Given the description of an element on the screen output the (x, y) to click on. 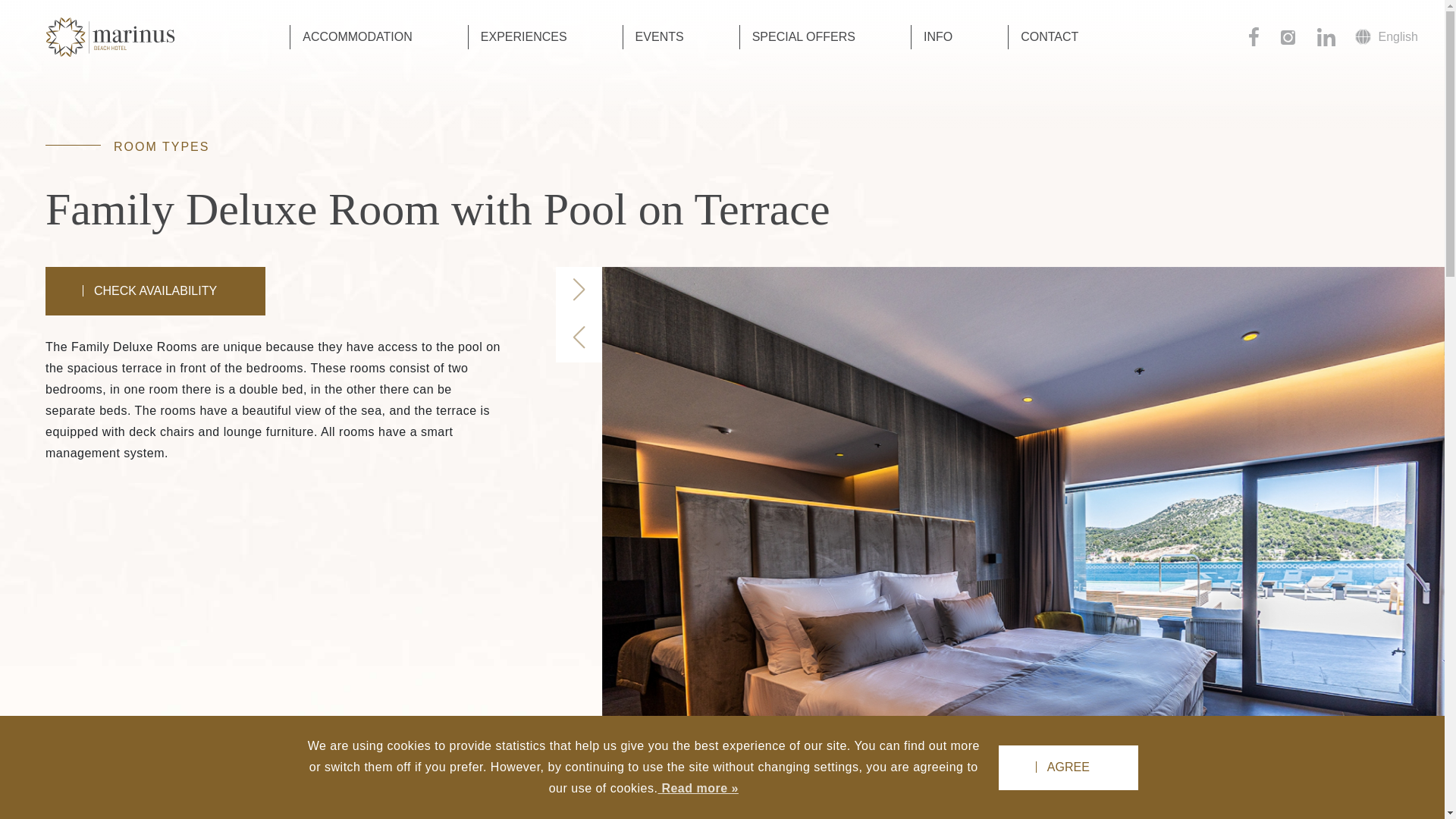
Logo (109, 36)
EXPERIENCES (523, 36)
ACCOMMODATION (357, 36)
EVENTS (659, 36)
SPECIAL OFFERS (803, 36)
INFO (937, 36)
English (1386, 36)
CONTACT (1048, 36)
